Given the description of an element on the screen output the (x, y) to click on. 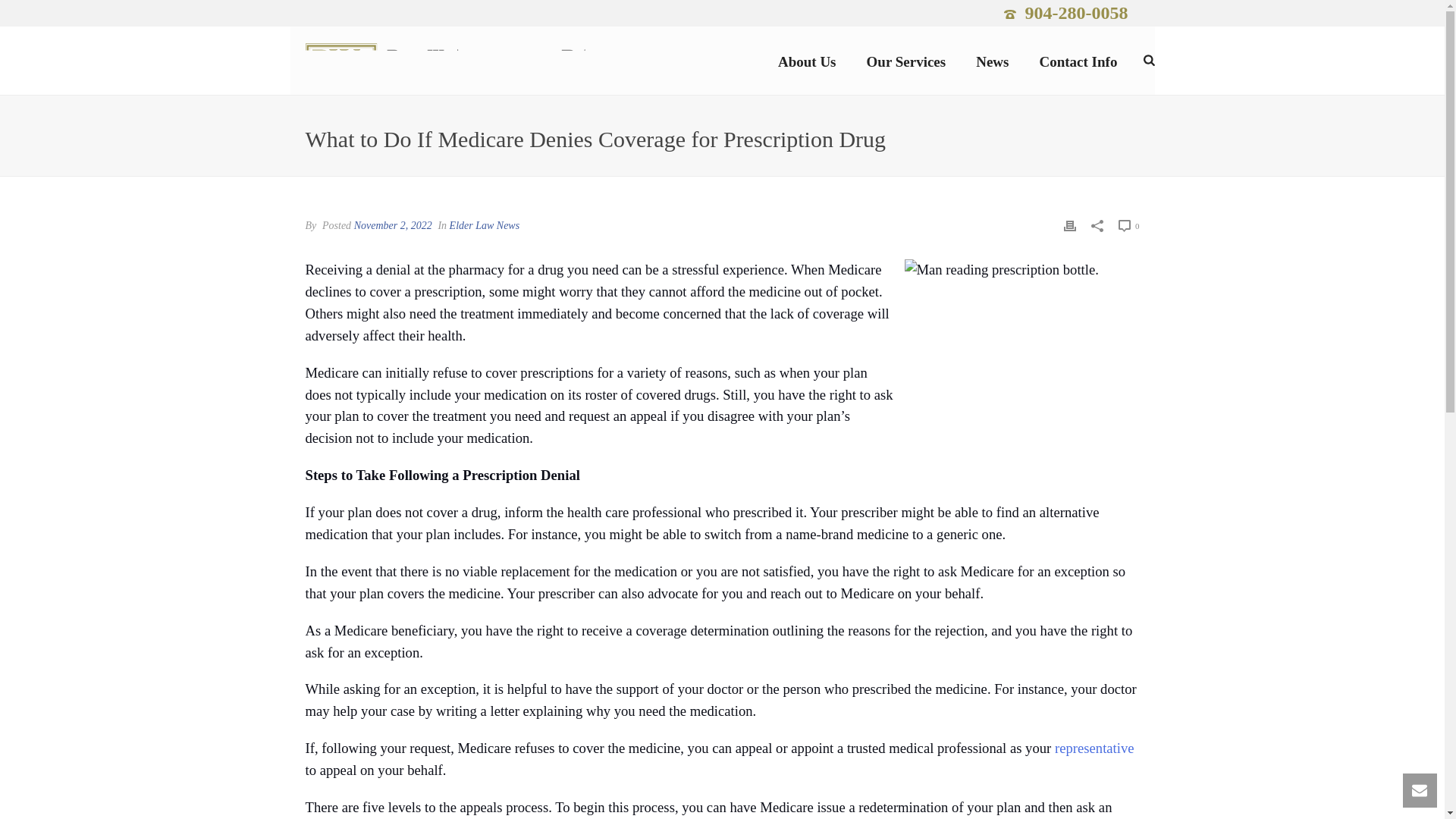
About Us (806, 60)
Elder Law News (484, 225)
News (991, 60)
November 2, 2022 (392, 225)
0 (1128, 225)
News (991, 60)
904-280-0058 (1076, 12)
Contact Info (1077, 60)
About Us (806, 60)
Elder Law Firm (450, 60)
